Given the description of an element on the screen output the (x, y) to click on. 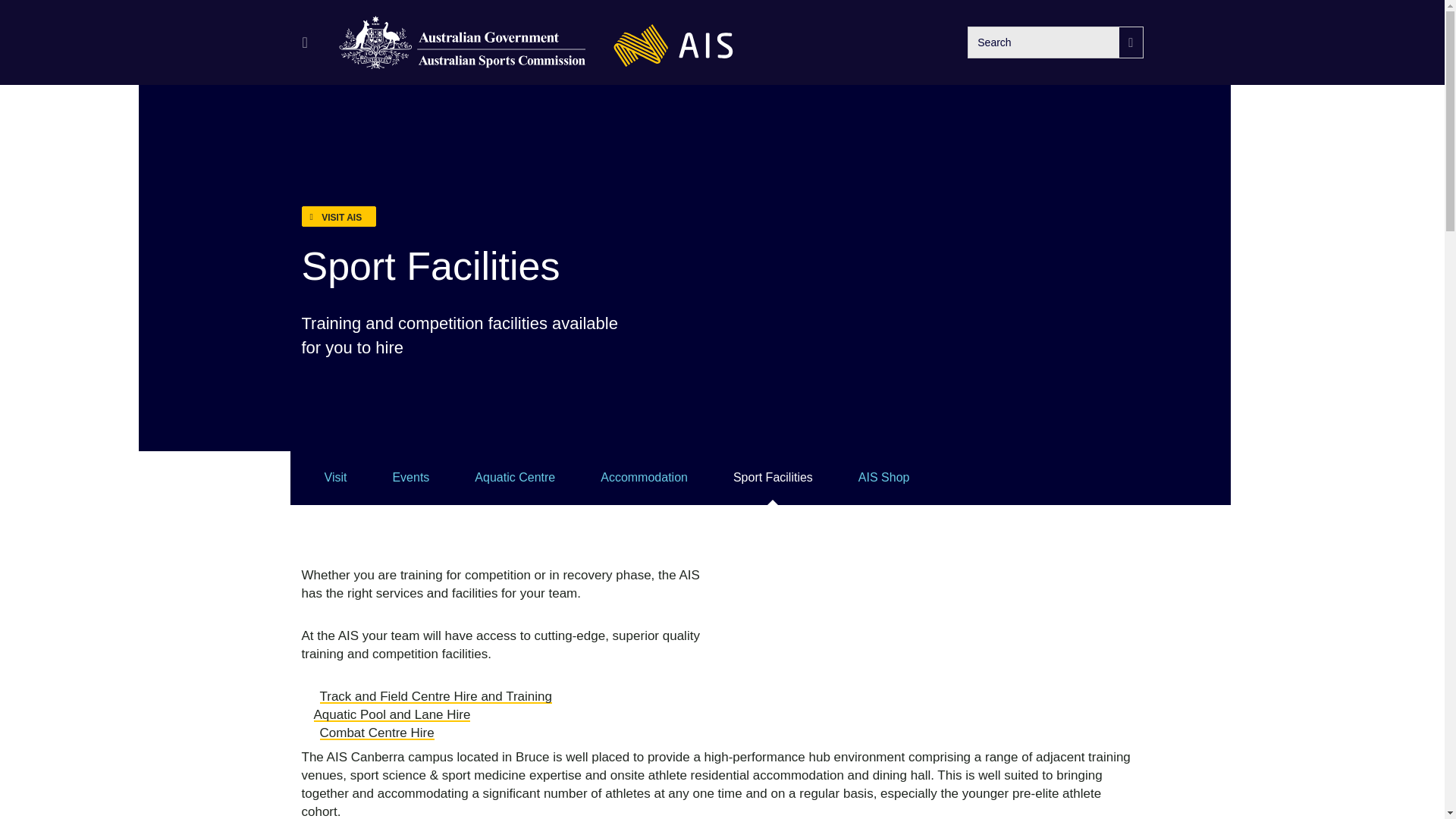
Skip to content (22, 23)
Australian Sports Commission (462, 42)
Australian Institute of Sport (672, 42)
